Given the description of an element on the screen output the (x, y) to click on. 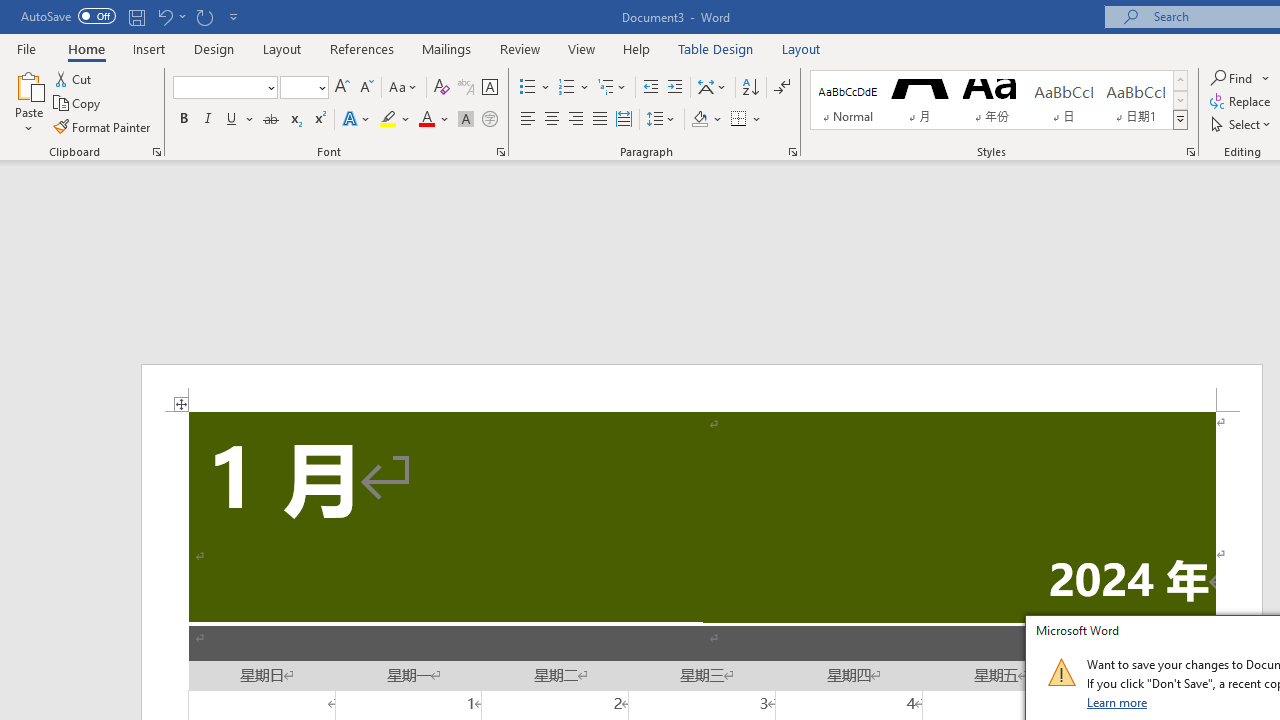
Undo Apply Quick Style (170, 15)
